Given the description of an element on the screen output the (x, y) to click on. 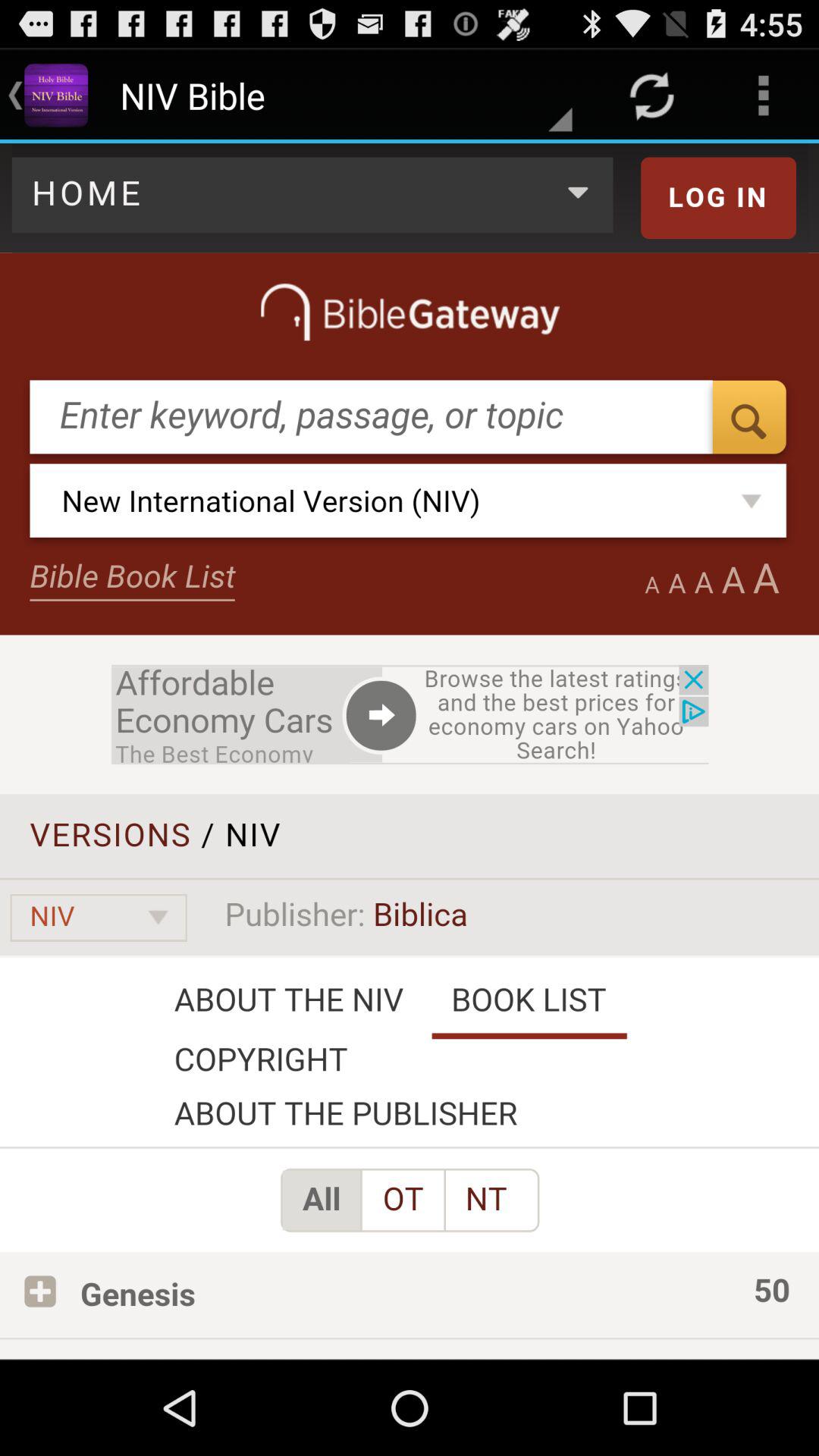
screen page (409, 751)
